Given the description of an element on the screen output the (x, y) to click on. 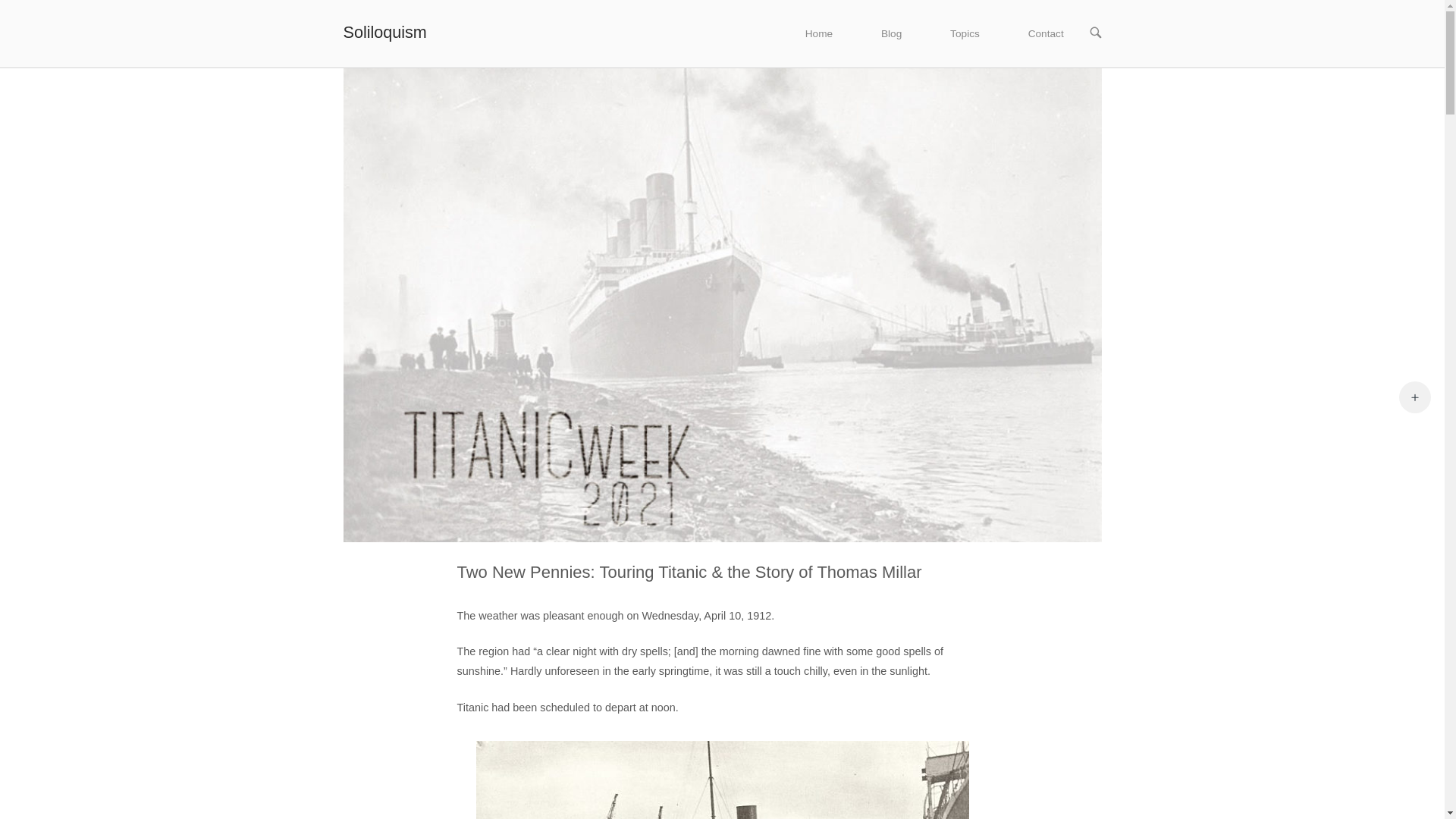
Contact (1046, 33)
Blog (891, 33)
Soliloquism (384, 31)
Home (819, 33)
Topics (965, 33)
